Given the description of an element on the screen output the (x, y) to click on. 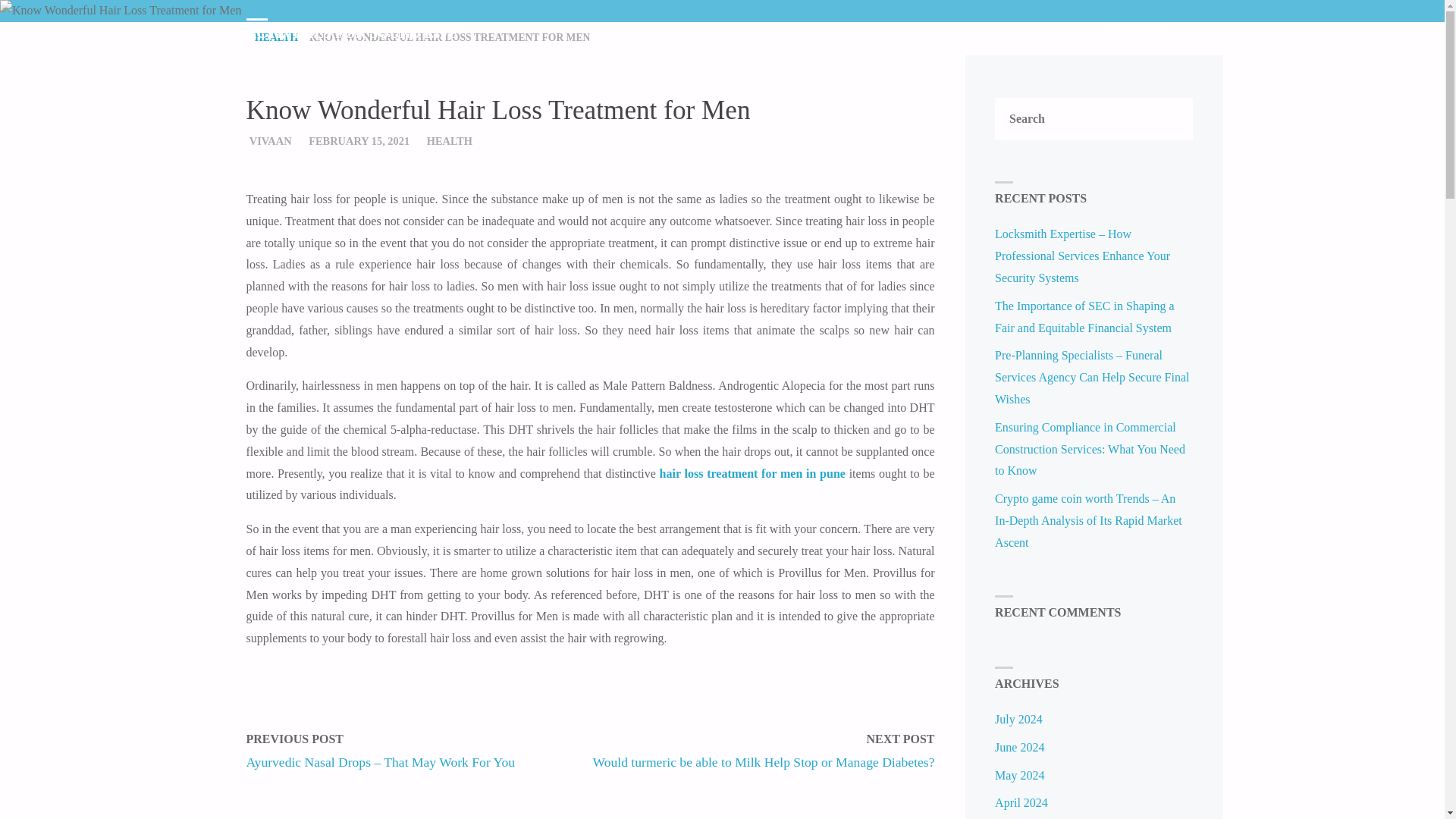
FASHION (1135, 32)
Skip to content (1112, 63)
Would turmeric be able to Milk Help Stop or Manage Diabetes? (763, 761)
April 2024 (1021, 802)
VIVAAN (270, 141)
July 2024 (1018, 718)
HEALTH (276, 37)
SEARCH (1187, 32)
View all posts by Vivaan (270, 141)
HEALTH (448, 141)
June 2024 (1018, 747)
hair loss treatment for men in pune (752, 472)
ACTIVITIES FOR SOUND LIFE (352, 32)
May 2024 (1018, 775)
